Given the description of an element on the screen output the (x, y) to click on. 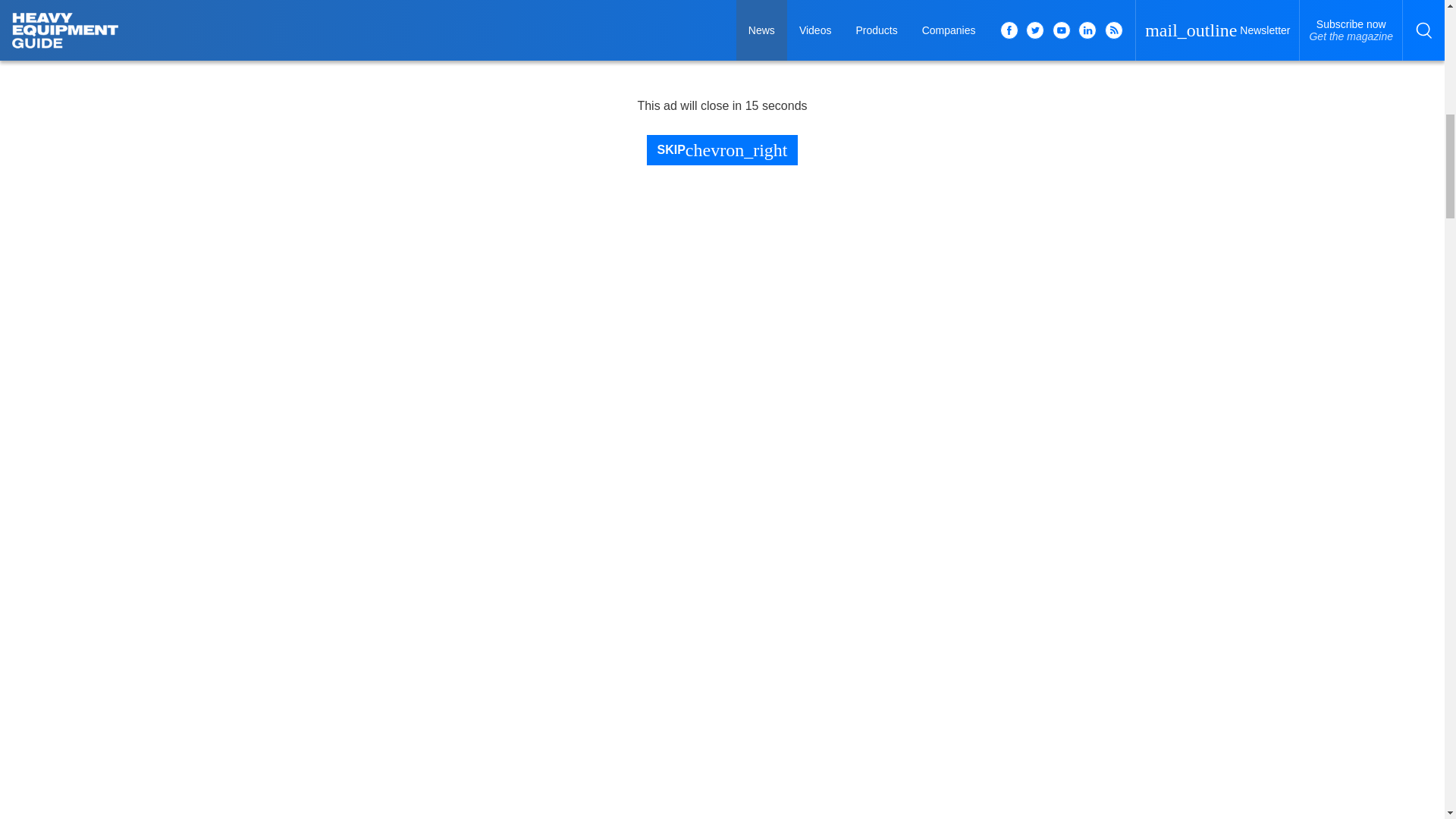
CATERPILLAR INC. (1072, 103)
cat.com (1030, 209)
Caterpillar Inc. (1194, 104)
conexpoconagg.com (1060, 410)
3rd party ad content (1125, 12)
READ MORE (1055, 442)
READ MORE (1055, 241)
Caterpillar (666, 303)
